Given the description of an element on the screen output the (x, y) to click on. 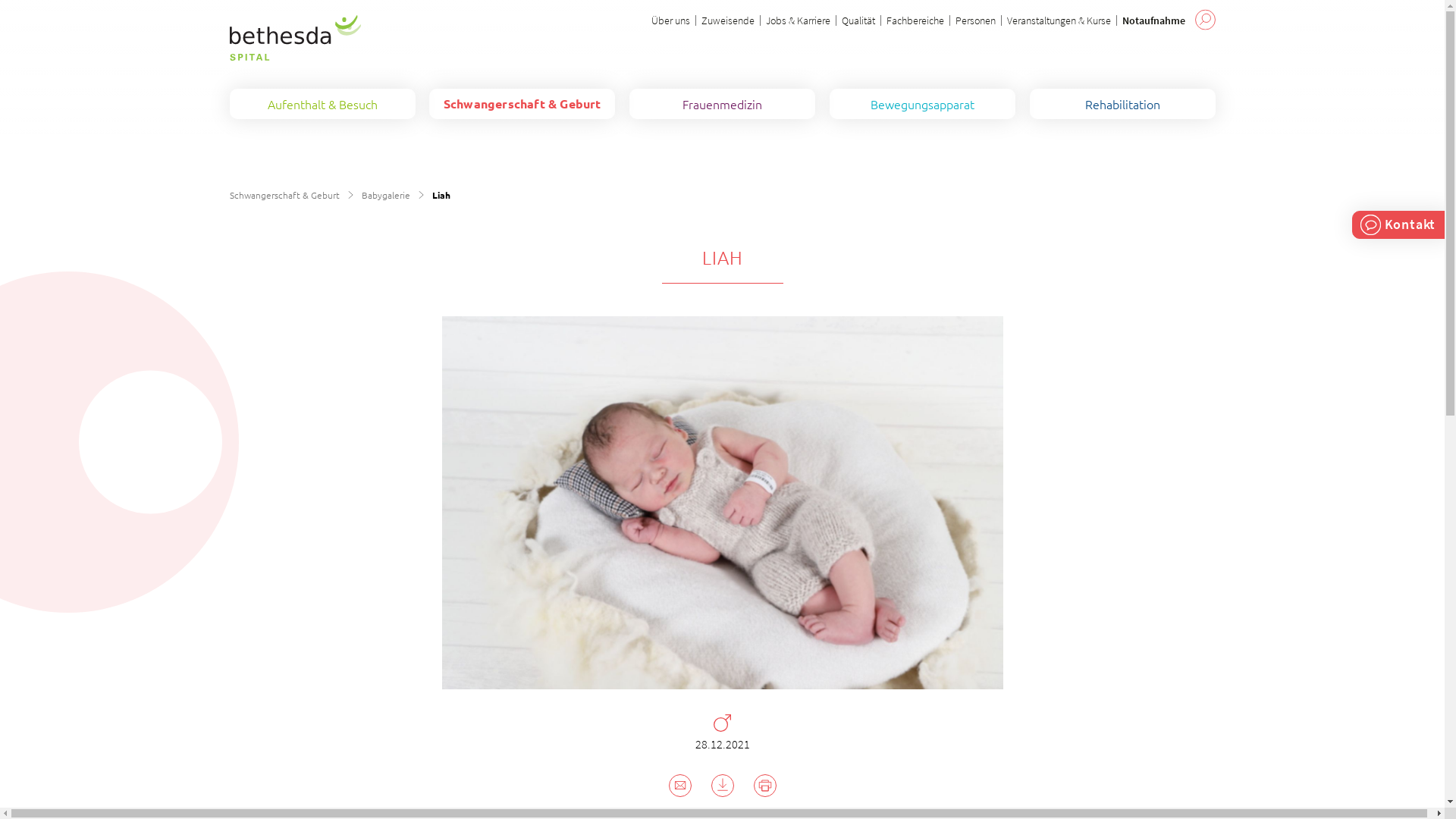
Frauenmedizin Element type: text (722, 103)
Bewegungsapparat Element type: text (922, 103)
Fachbereiche Element type: text (914, 20)
Babygalerie Element type: text (384, 194)
Notaufnahme Element type: text (1153, 20)
Rehabilitation Element type: text (1122, 103)
Aufenthalt & Besuch Element type: text (321, 103)
Schwangerschaft & Geburt Element type: text (522, 103)
Veranstaltungen & Kurse Element type: text (1058, 20)
Schwangerschaft & Geburt Element type: text (283, 194)
Personen Element type: text (975, 20)
Jobs & Karriere Element type: text (797, 20)
Kontakt Element type: text (1401, 224)
Zuweisende Element type: text (726, 20)
